Given the description of an element on the screen output the (x, y) to click on. 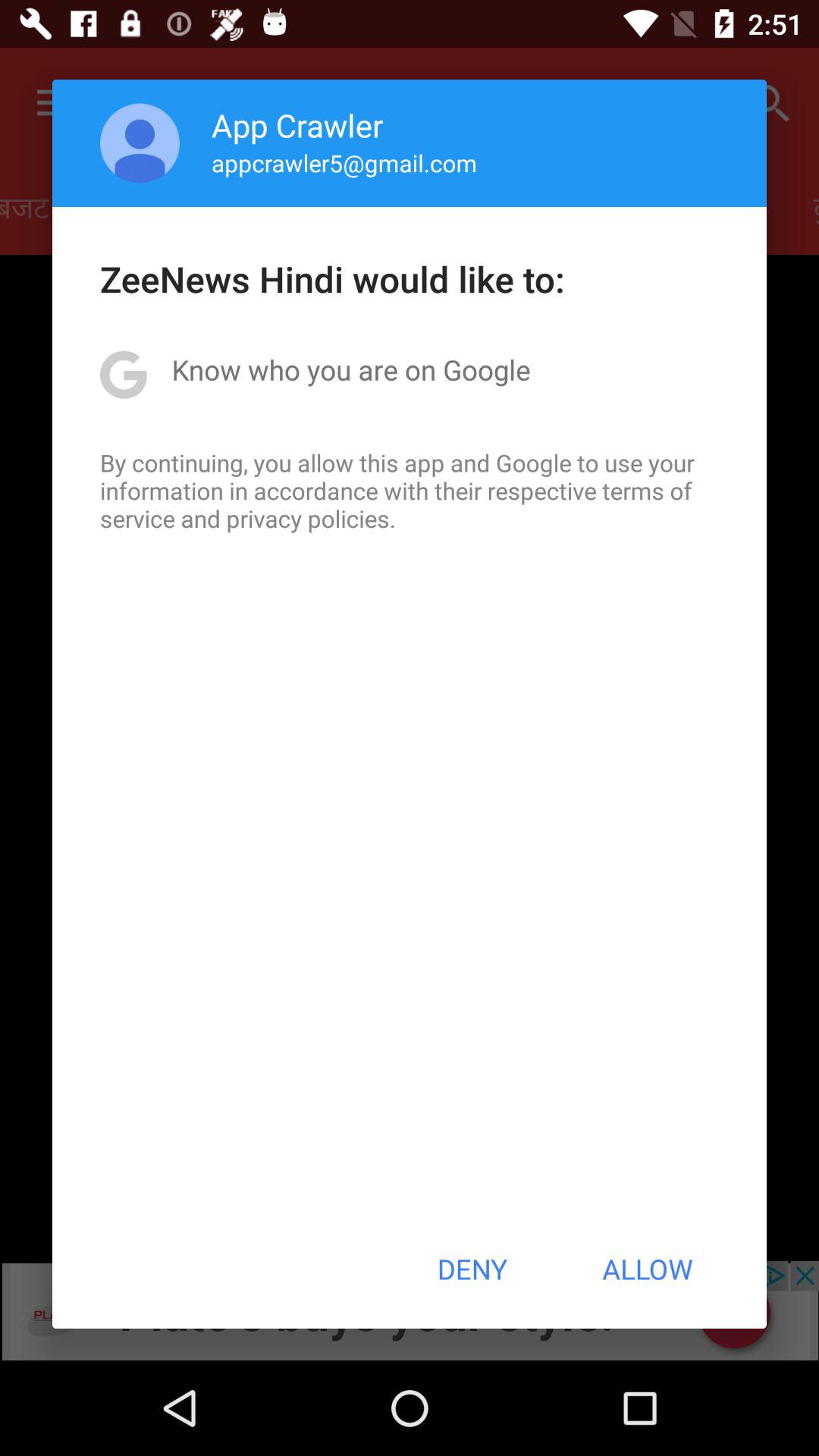
scroll until know who you item (350, 369)
